Given the description of an element on the screen output the (x, y) to click on. 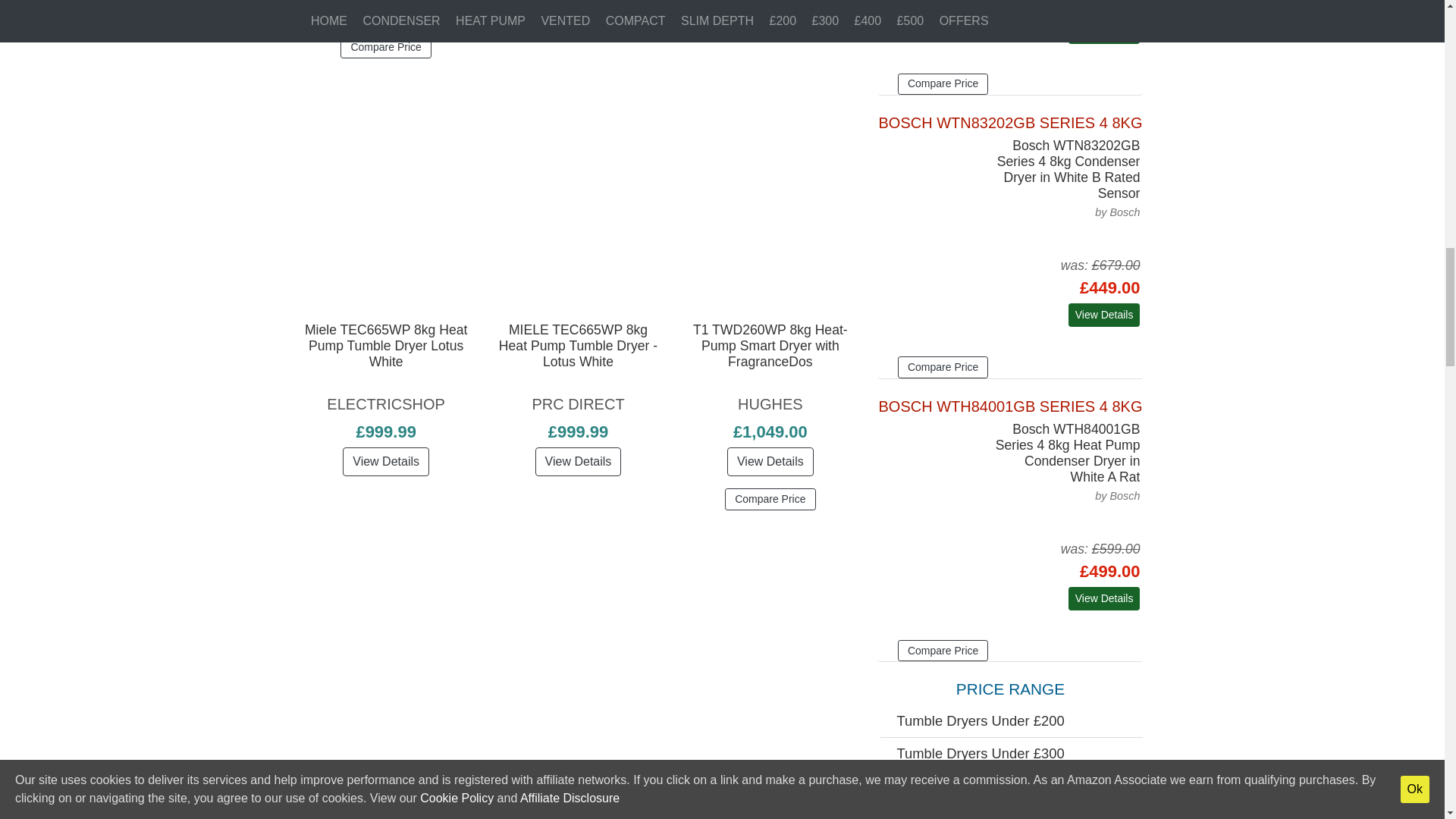
View Details (385, 9)
Compare Price (385, 47)
View Details (578, 15)
